Given the description of an element on the screen output the (x, y) to click on. 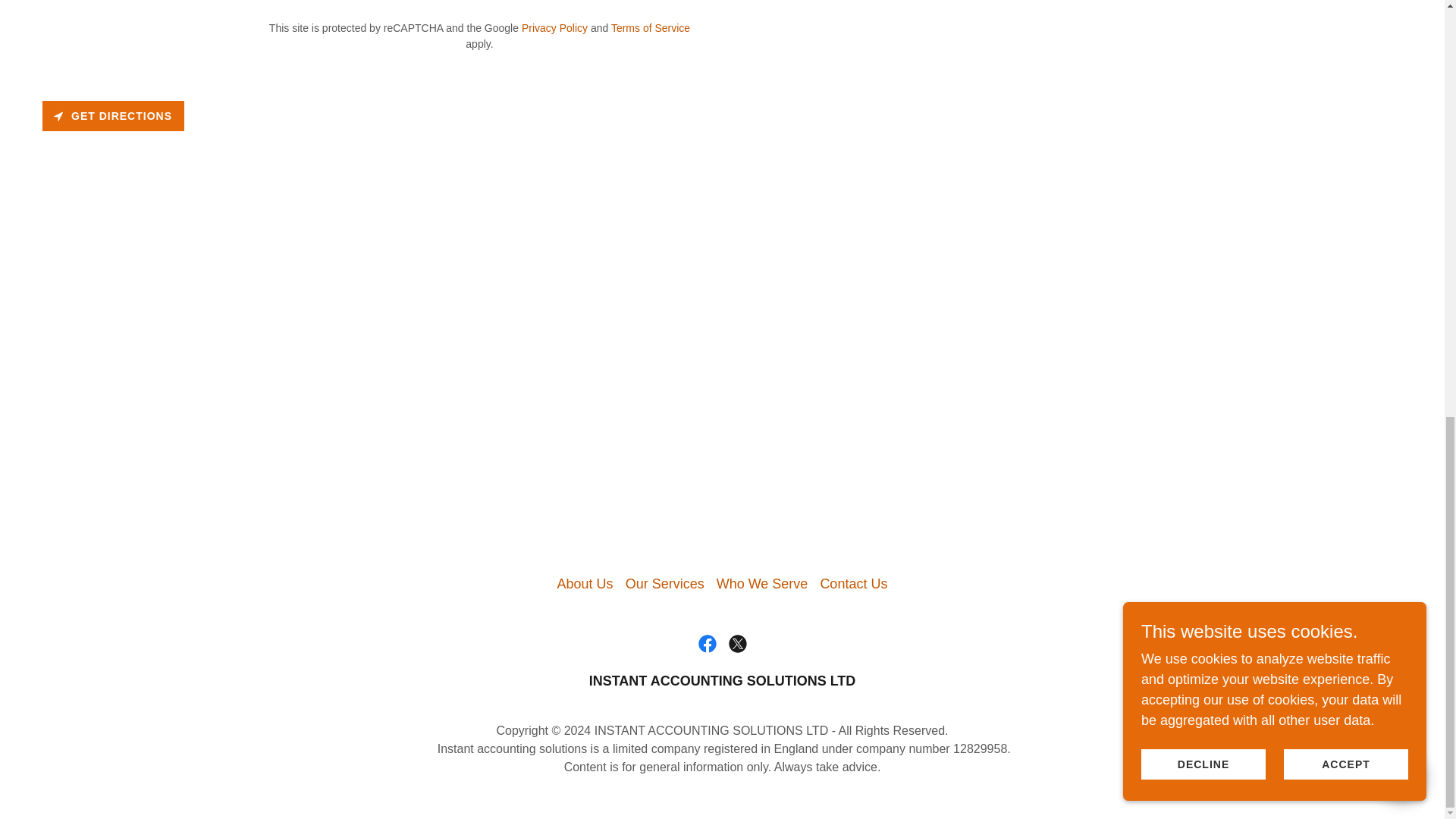
About Us (585, 584)
Terms of Service (650, 28)
GET DIRECTIONS (113, 115)
Privacy Policy (554, 28)
